Given the description of an element on the screen output the (x, y) to click on. 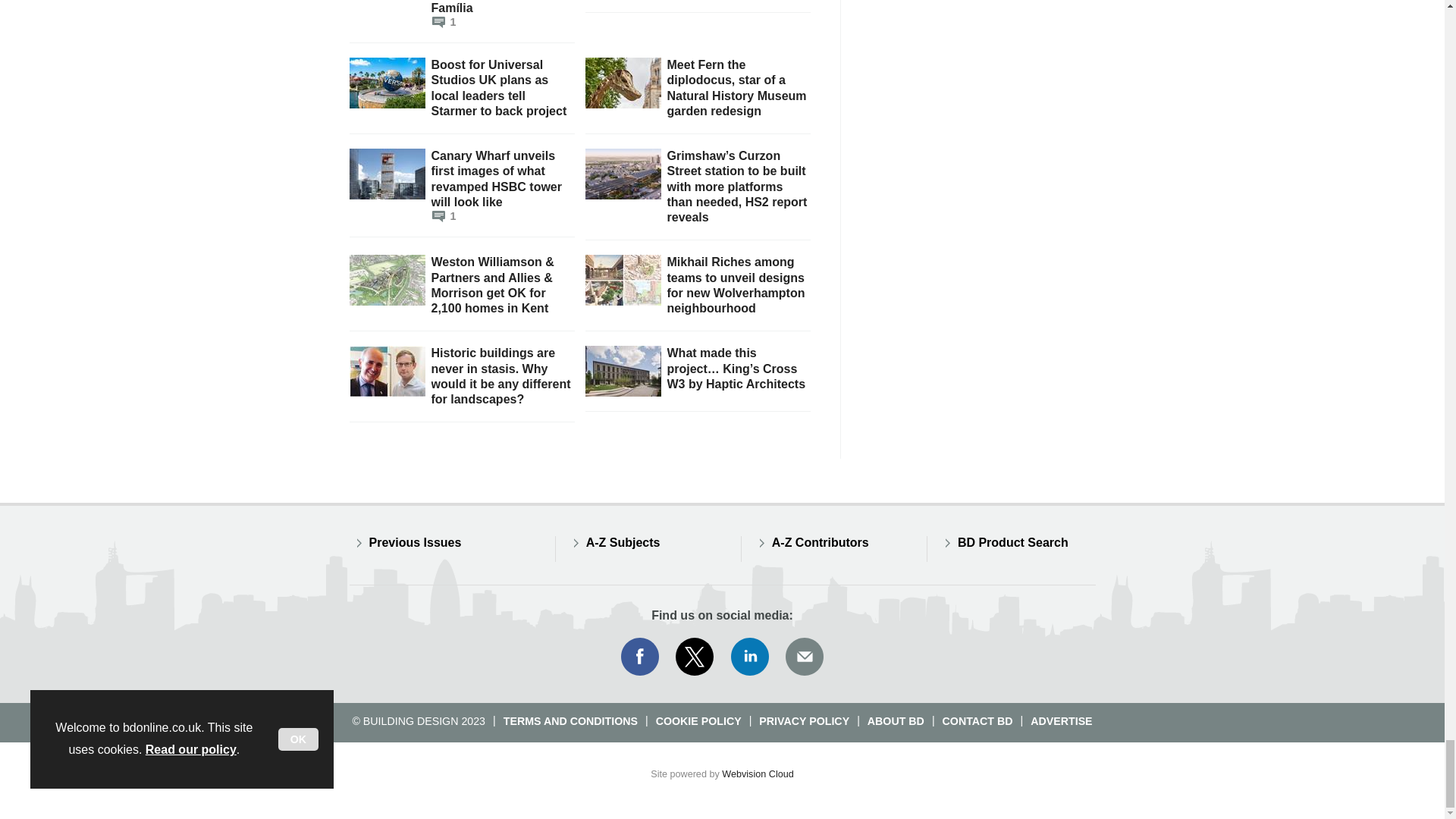
Email us (804, 656)
Connect with us on Facebook (639, 656)
Connect with us on Twitter (694, 656)
Connect with us on Linked in (750, 656)
